Given the description of an element on the screen output the (x, y) to click on. 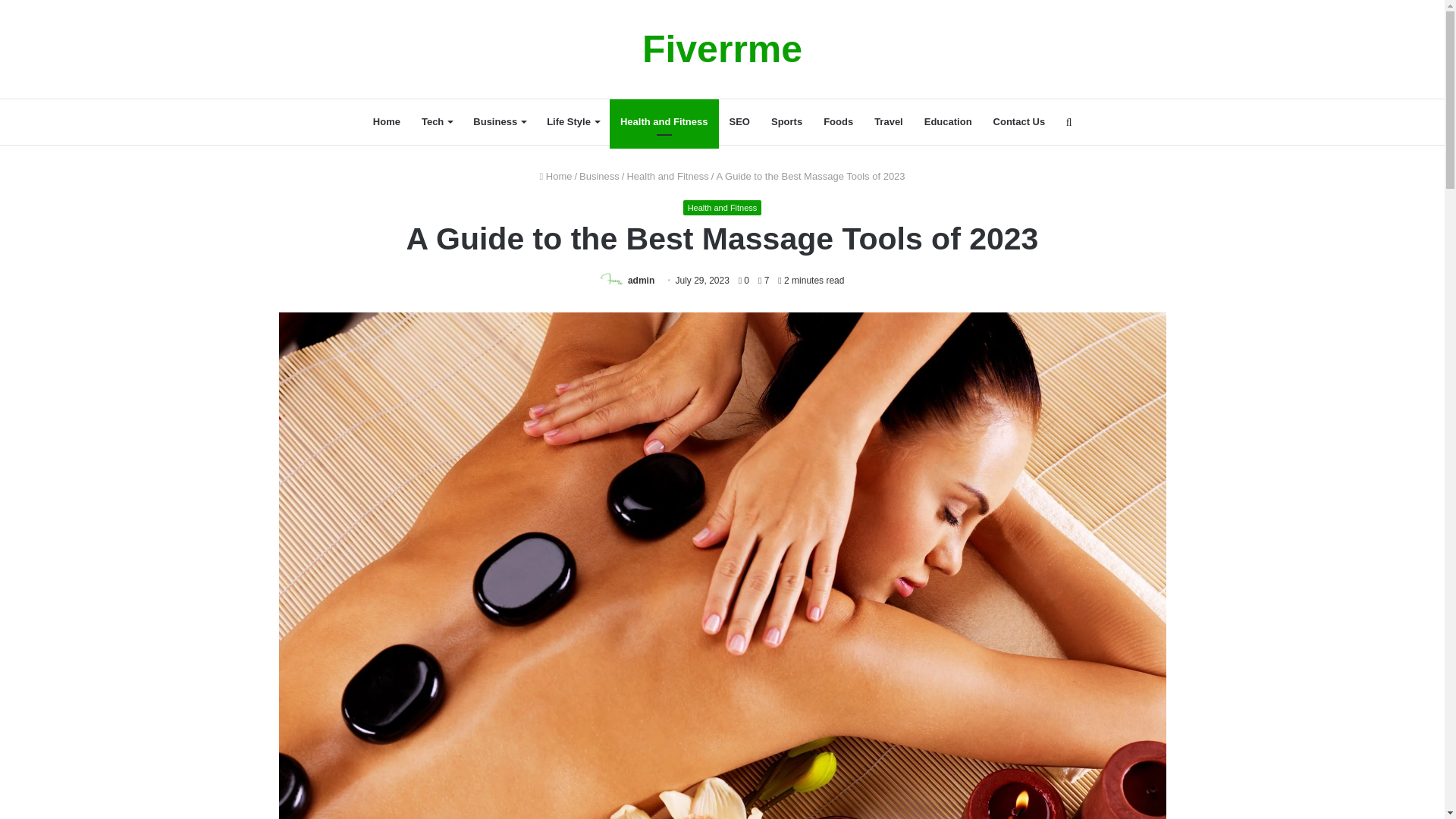
Health and Fitness (721, 207)
SEO (739, 121)
Business (599, 175)
admin (640, 280)
Sports (786, 121)
Fiverrme (722, 48)
Business (499, 121)
Contact Us (1019, 121)
Health and Fitness (666, 175)
Tech (436, 121)
Home (386, 121)
admin (640, 280)
Education (948, 121)
Fiverrme (722, 48)
Life Style (572, 121)
